Given the description of an element on the screen output the (x, y) to click on. 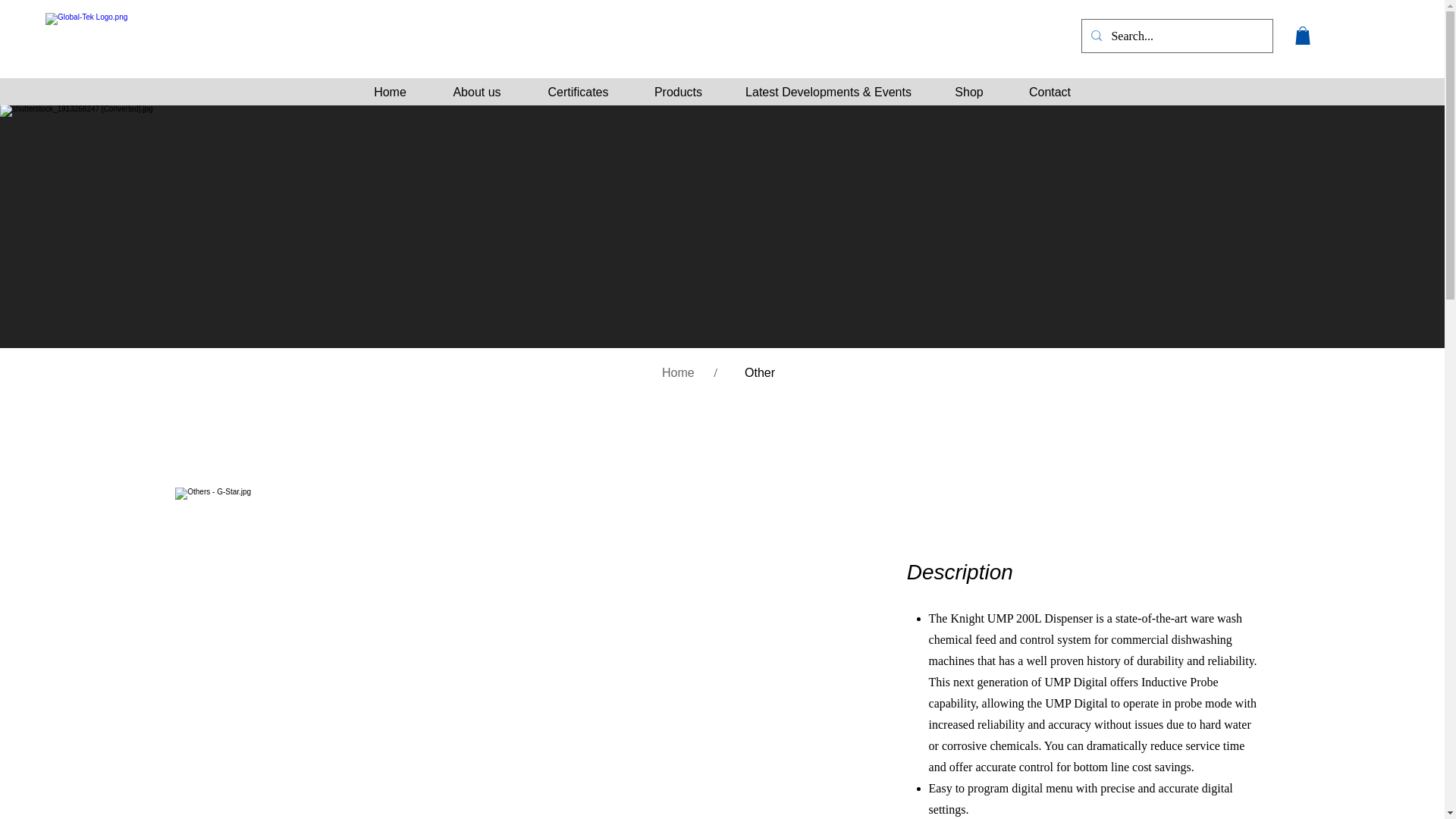
Home (389, 92)
Other (759, 372)
About us (476, 92)
Certificates (577, 92)
Shop (969, 92)
Products (678, 92)
Home (677, 372)
Others - Knight UMP.jpg (360, 653)
Contact (1049, 92)
